Given the description of an element on the screen output the (x, y) to click on. 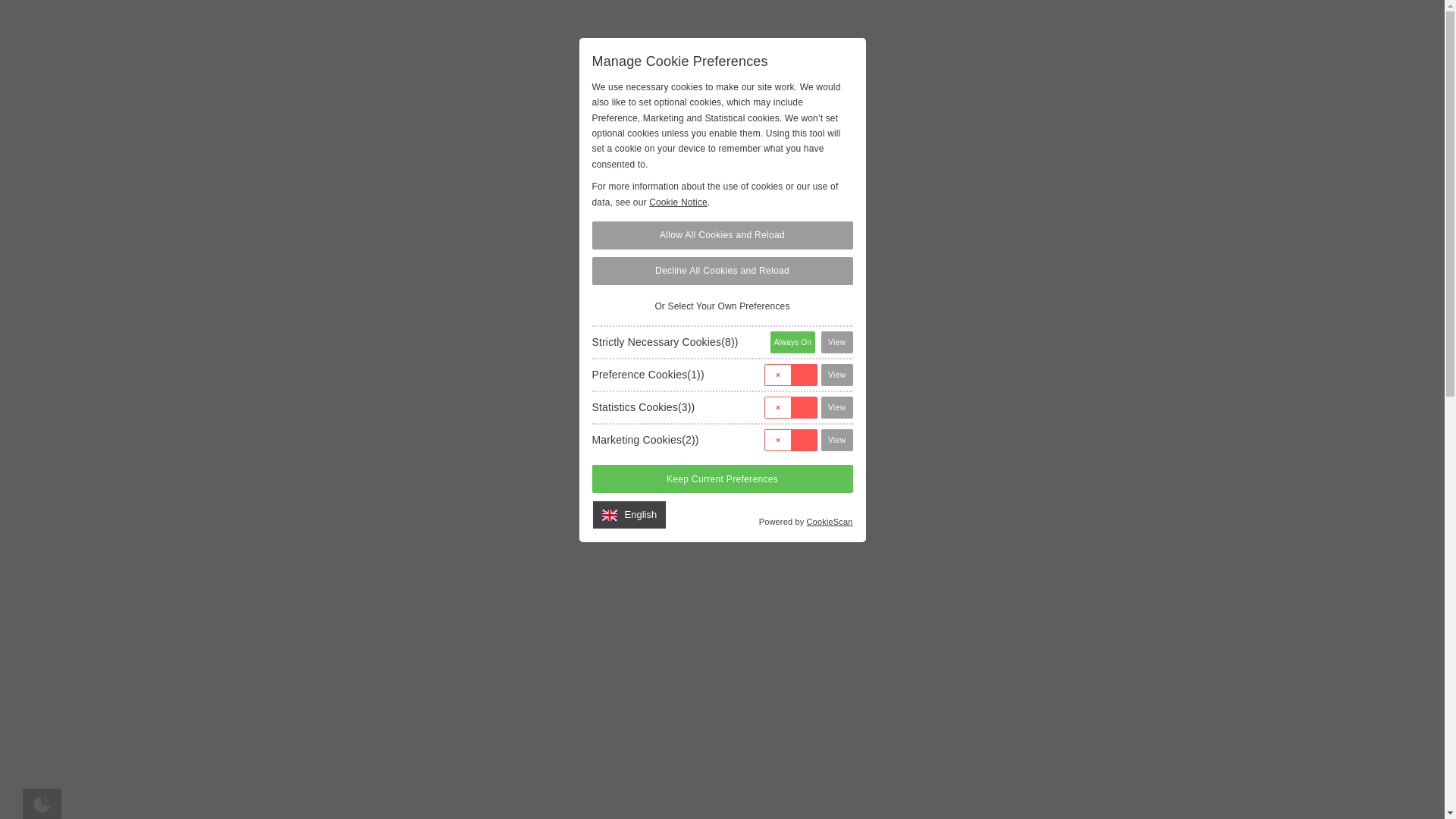
About Us (657, 31)
Services (574, 31)
Contact (1099, 31)
LOGIN (1173, 31)
Careers (898, 31)
People (825, 31)
Locations (745, 31)
